Given the description of an element on the screen output the (x, y) to click on. 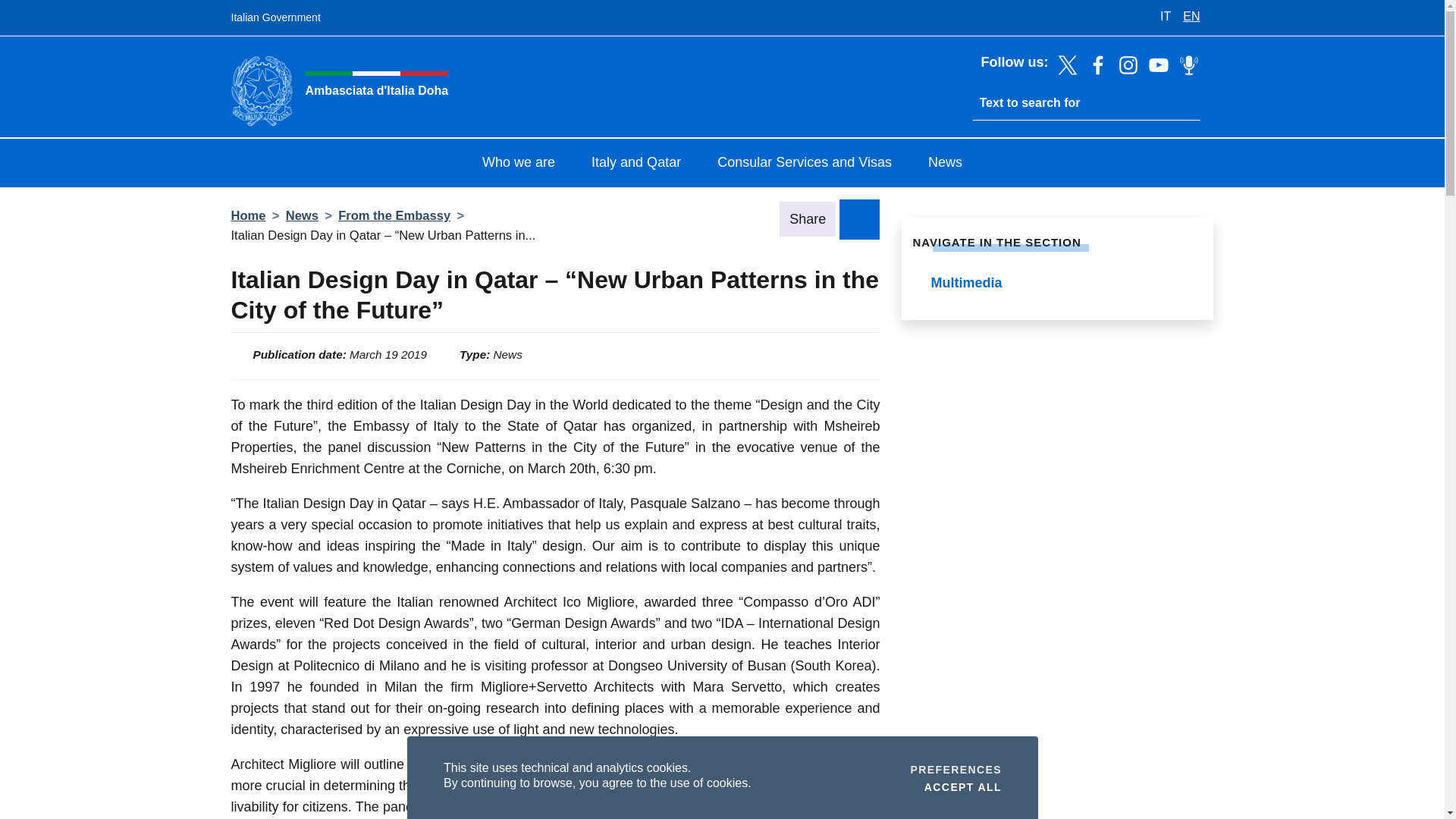
Italy and Qatar (635, 163)
Home (247, 215)
Italian Government (275, 18)
From the Embassy (393, 215)
Share on Social Network (962, 786)
News (859, 218)
Multimedia (955, 769)
News (301, 215)
Share on Social Network (1057, 282)
Who we are (944, 163)
Consular Services and Visas (859, 218)
Multimedia (518, 163)
